Given the description of an element on the screen output the (x, y) to click on. 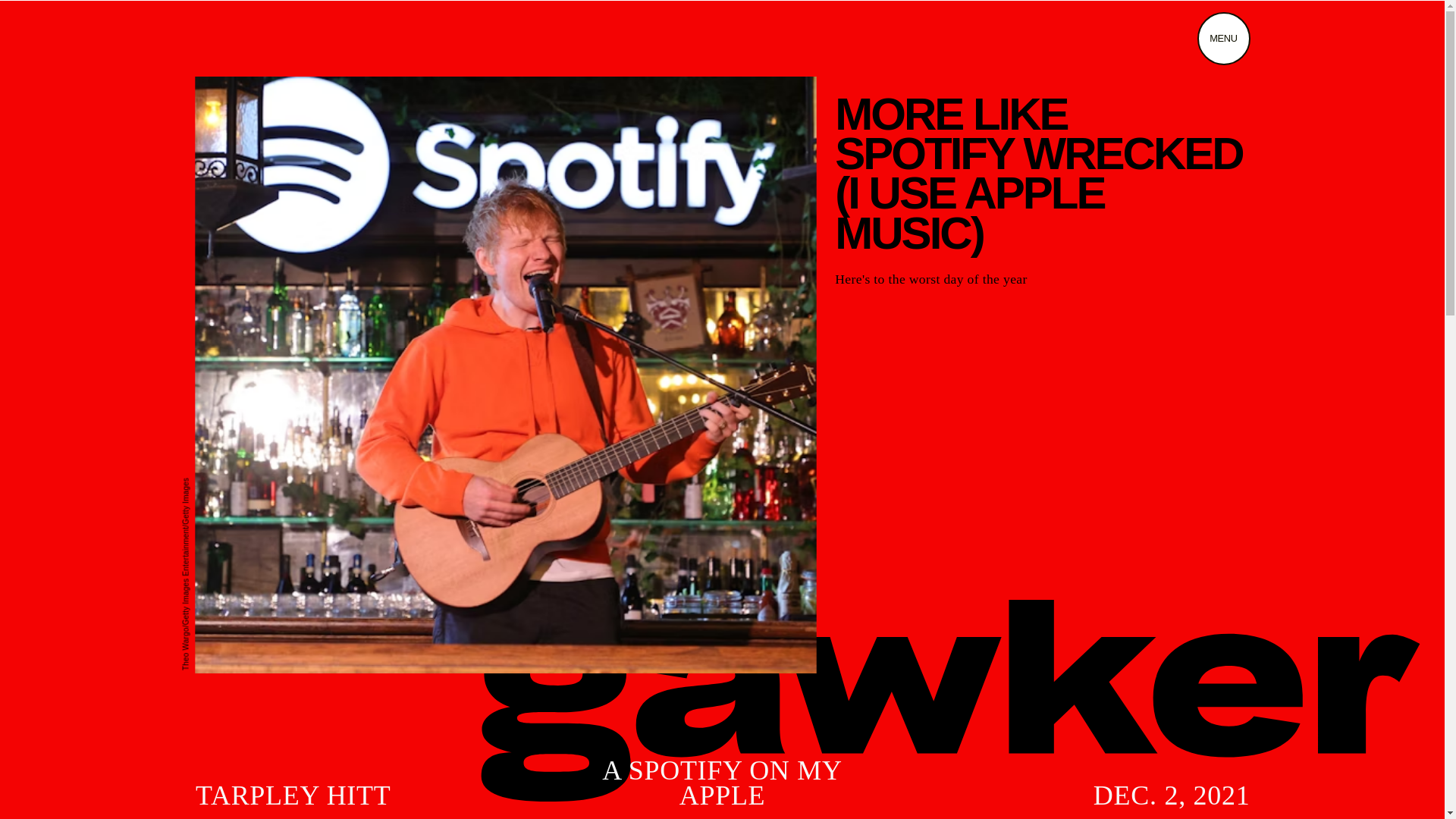
TARPLEY HITT (292, 795)
